Given the description of an element on the screen output the (x, y) to click on. 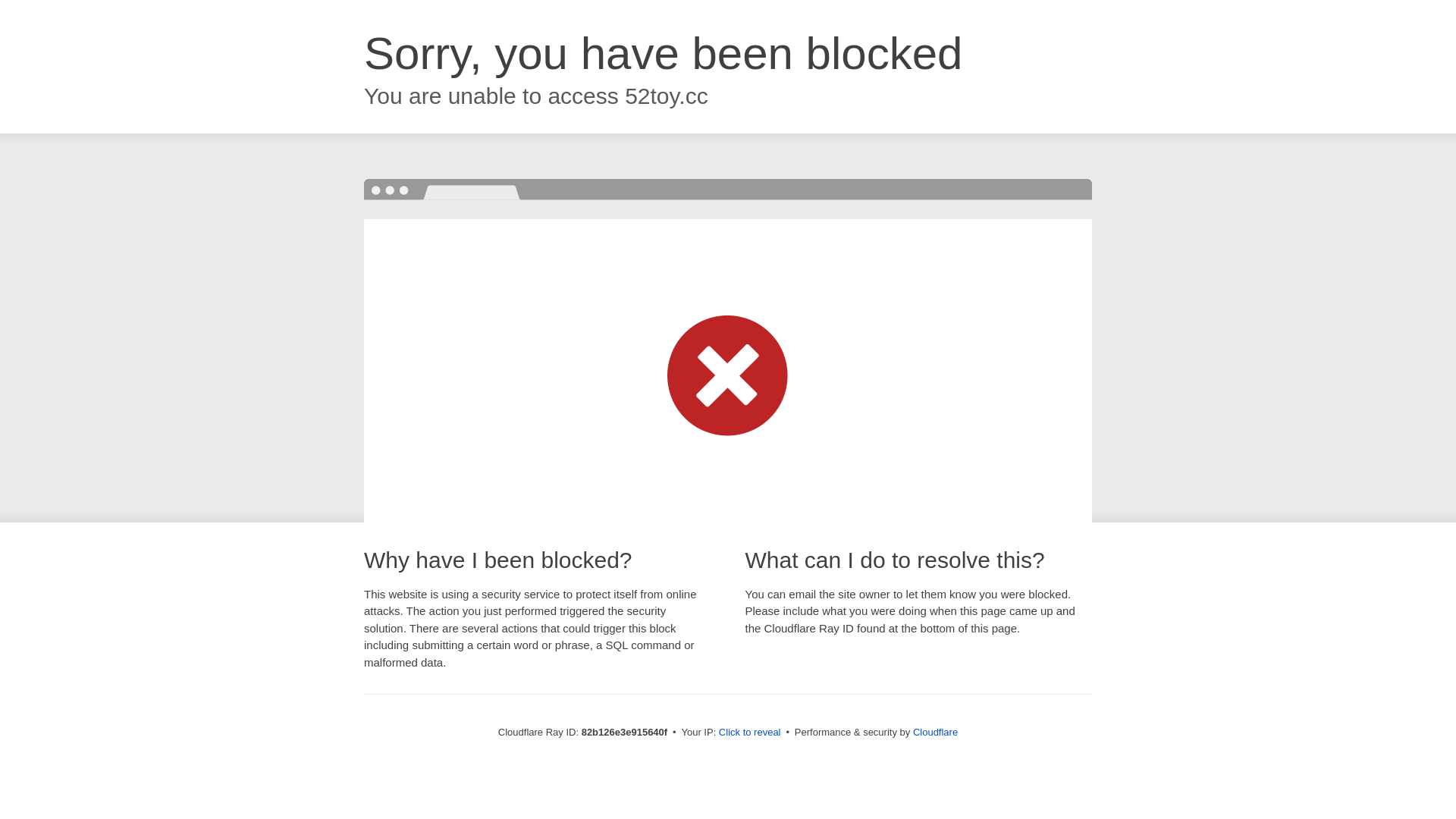
Click to reveal Element type: text (749, 732)
Cloudflare Element type: text (935, 731)
